Given the description of an element on the screen output the (x, y) to click on. 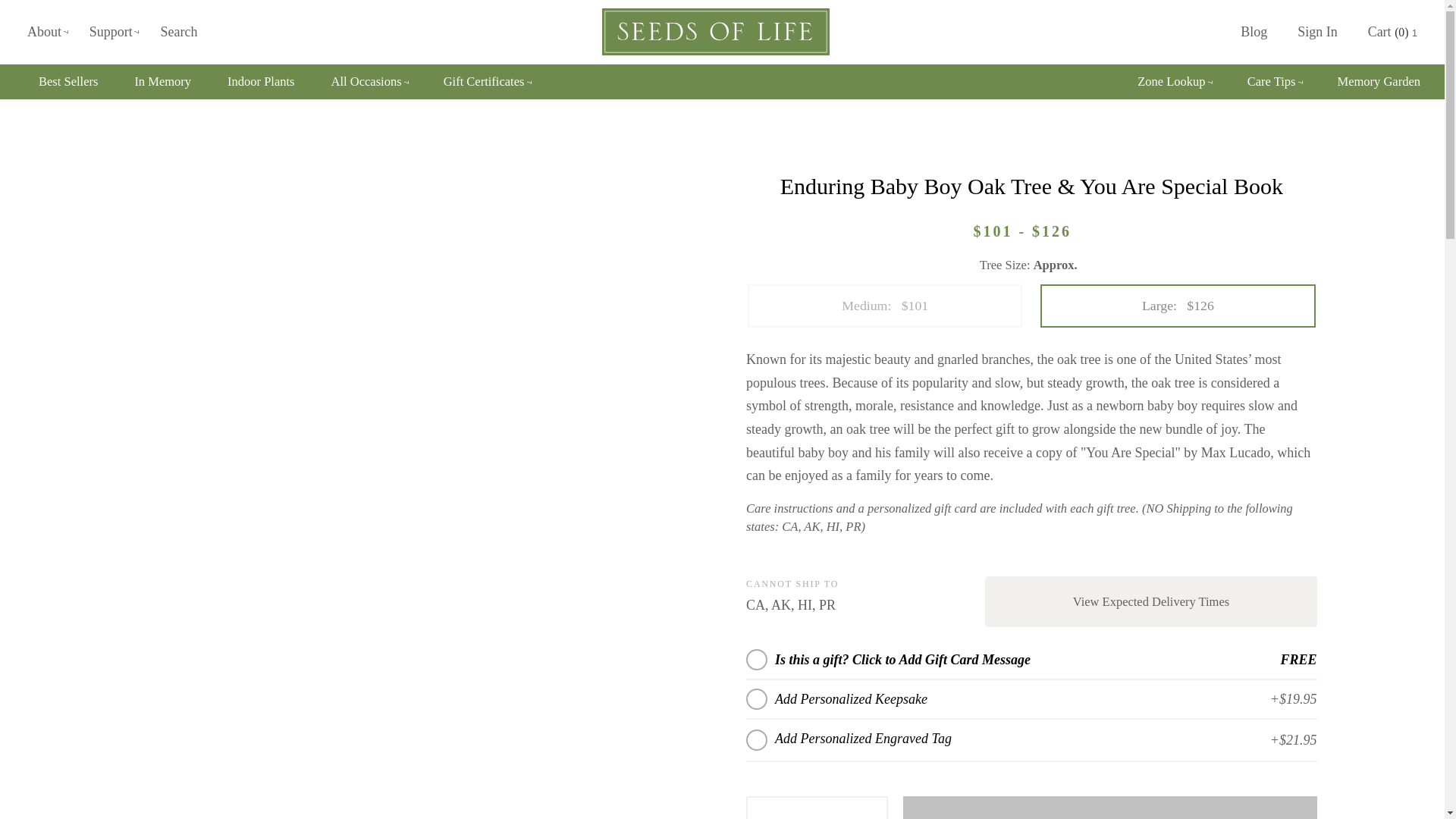
CLOSE (1241, 9)
Blog (1253, 31)
Sign In (1308, 74)
Tree Size: (1030, 264)
Add To Cart (1109, 807)
PRESS ENTER (1217, 29)
